Given the description of an element on the screen output the (x, y) to click on. 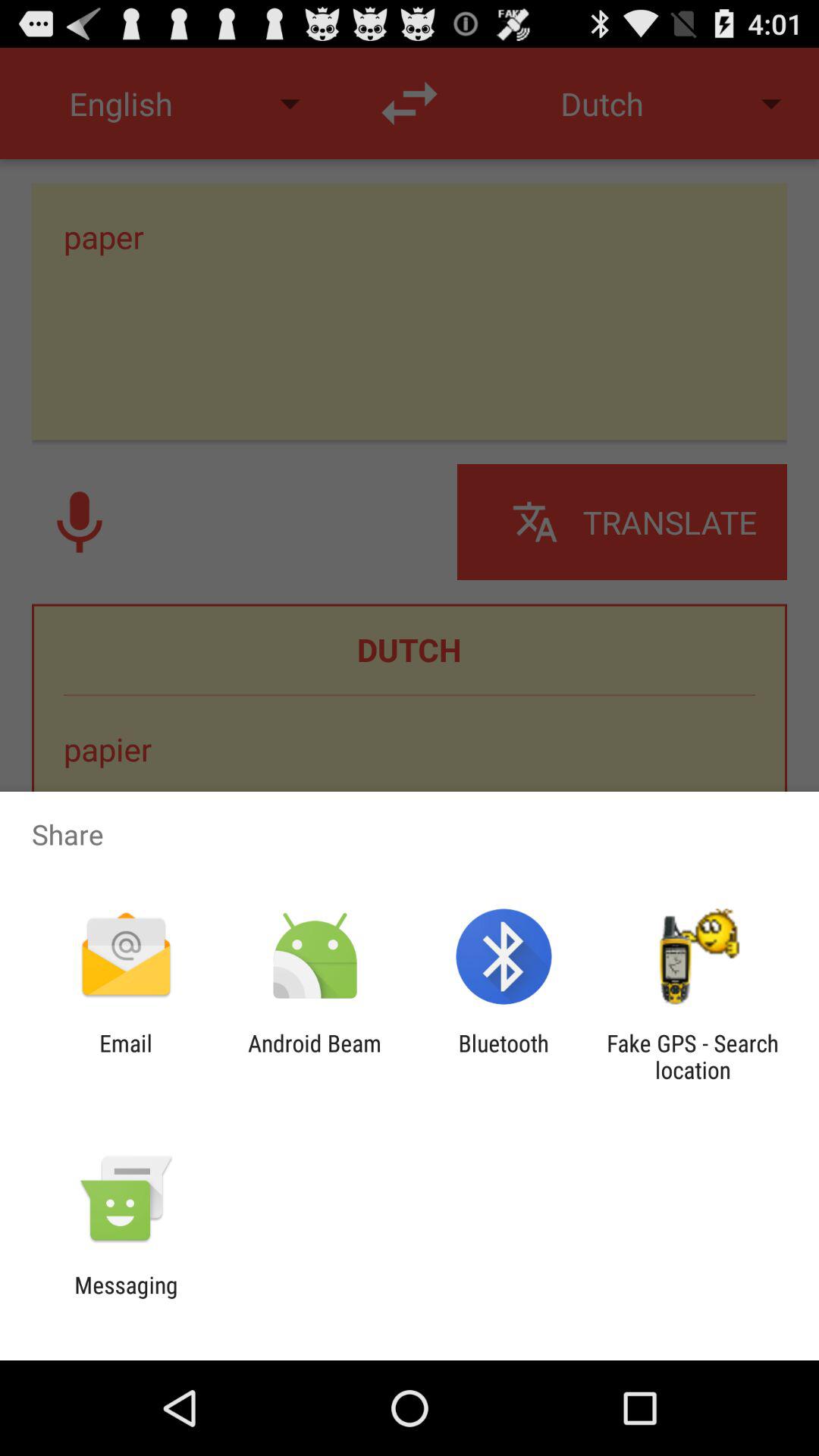
open the bluetooth icon (503, 1056)
